Given the description of an element on the screen output the (x, y) to click on. 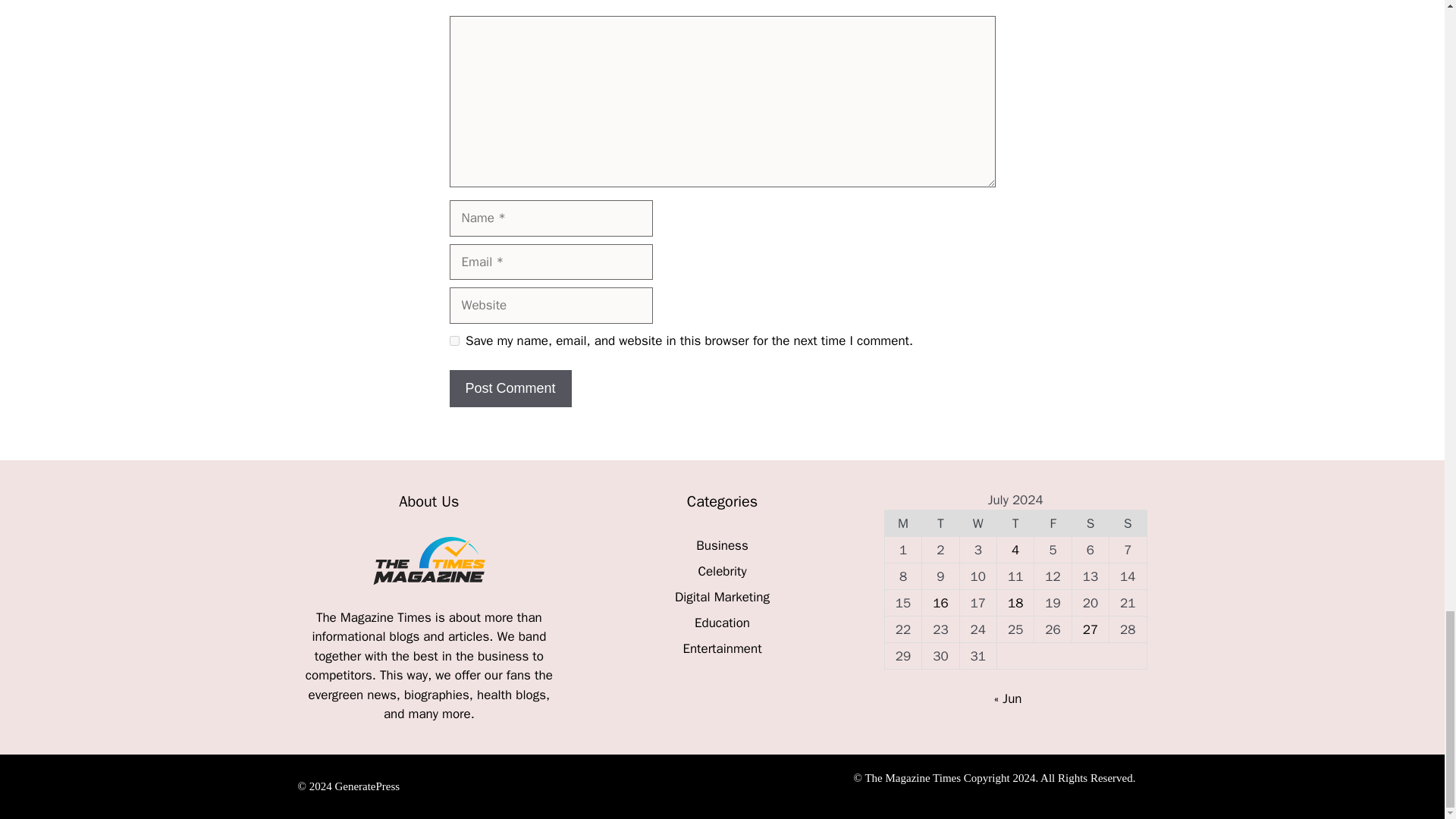
Post Comment (509, 388)
Friday (1052, 523)
Sunday (1128, 523)
Wednesday (977, 523)
Post Comment (509, 388)
Tuesday (940, 523)
yes (453, 340)
Thursday (1014, 523)
Saturday (1089, 523)
Monday (902, 523)
